Given the description of an element on the screen output the (x, y) to click on. 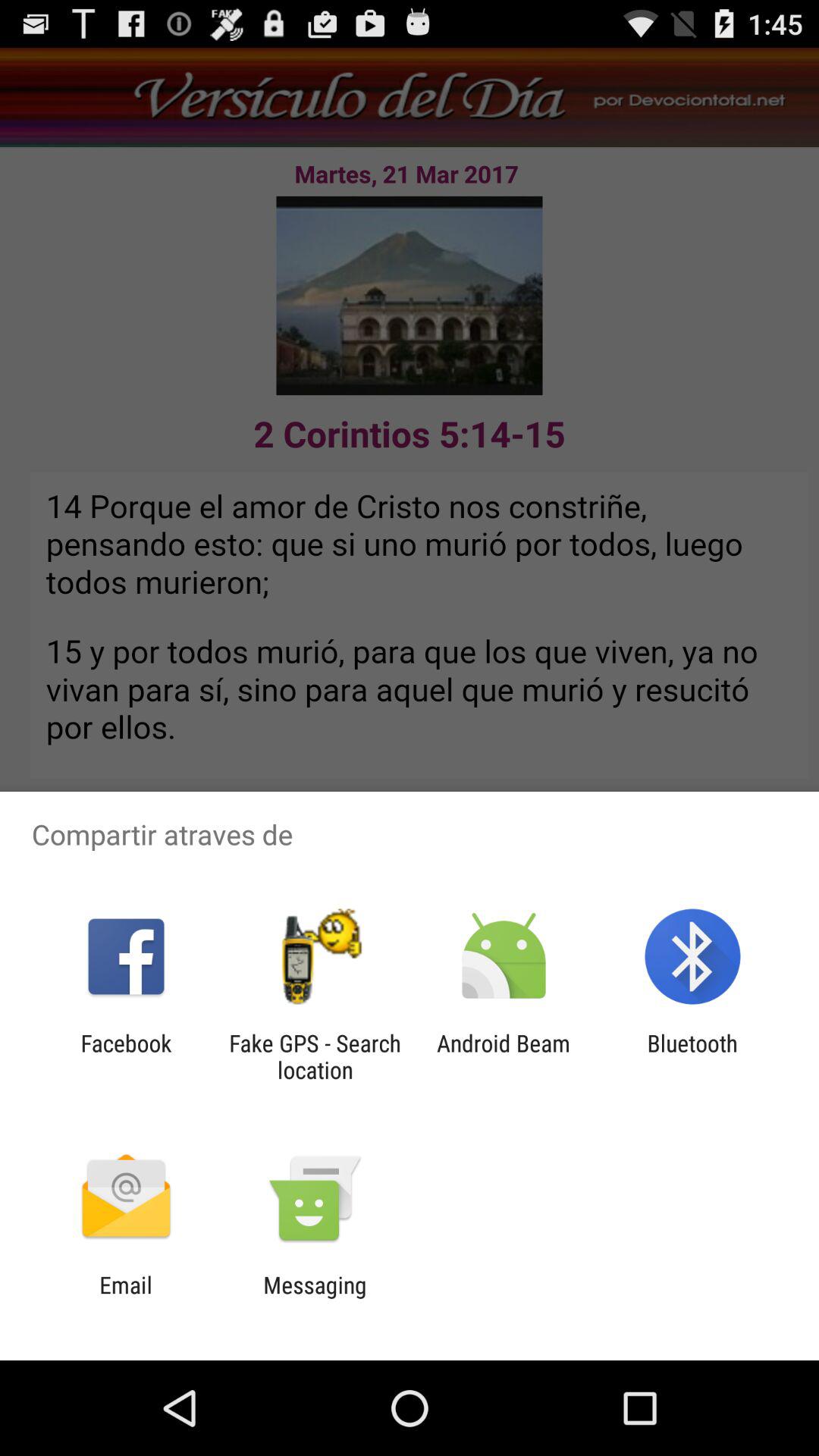
scroll until android beam app (503, 1056)
